Given the description of an element on the screen output the (x, y) to click on. 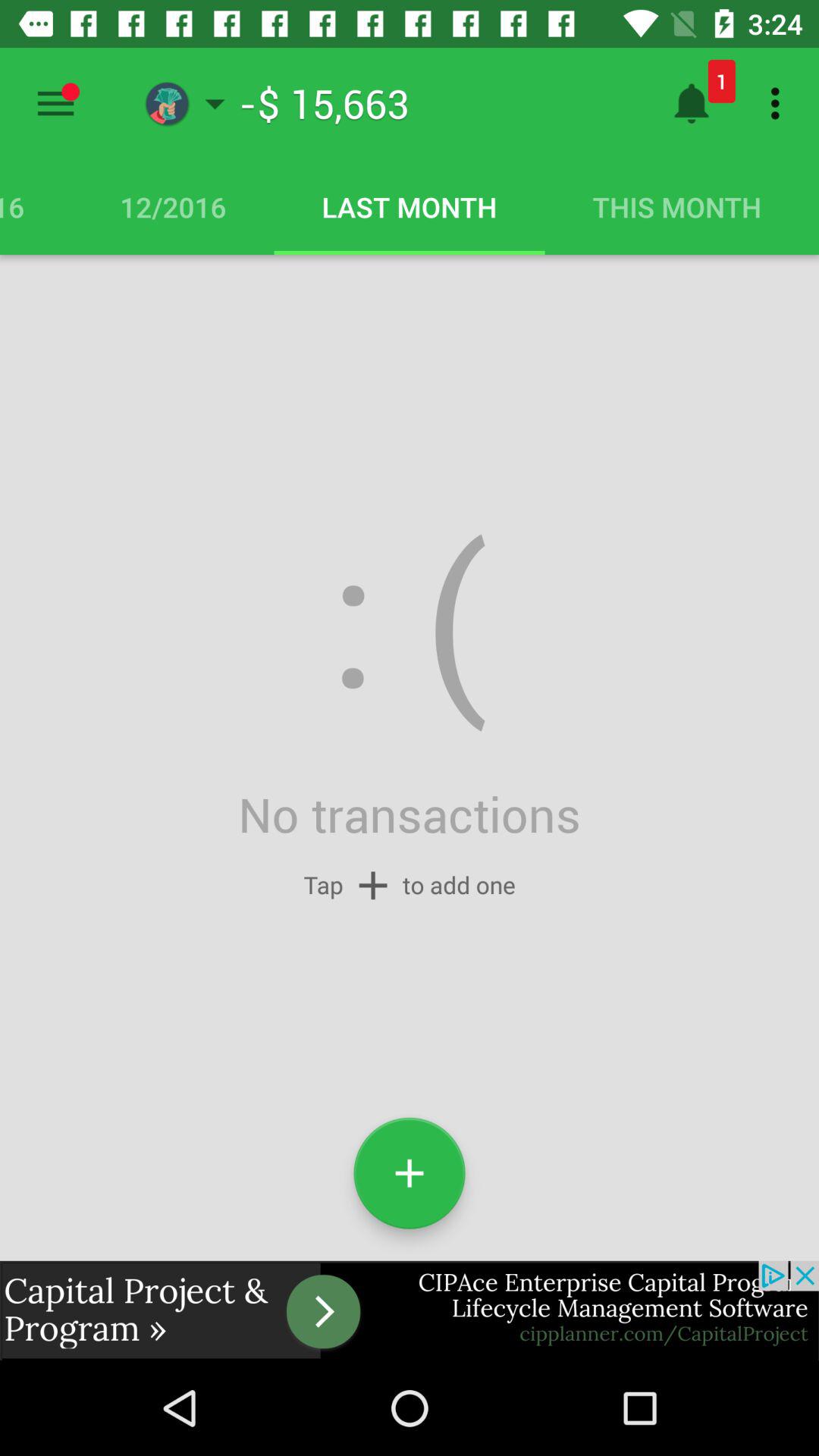
click on advertisement below (409, 1310)
